Given the description of an element on the screen output the (x, y) to click on. 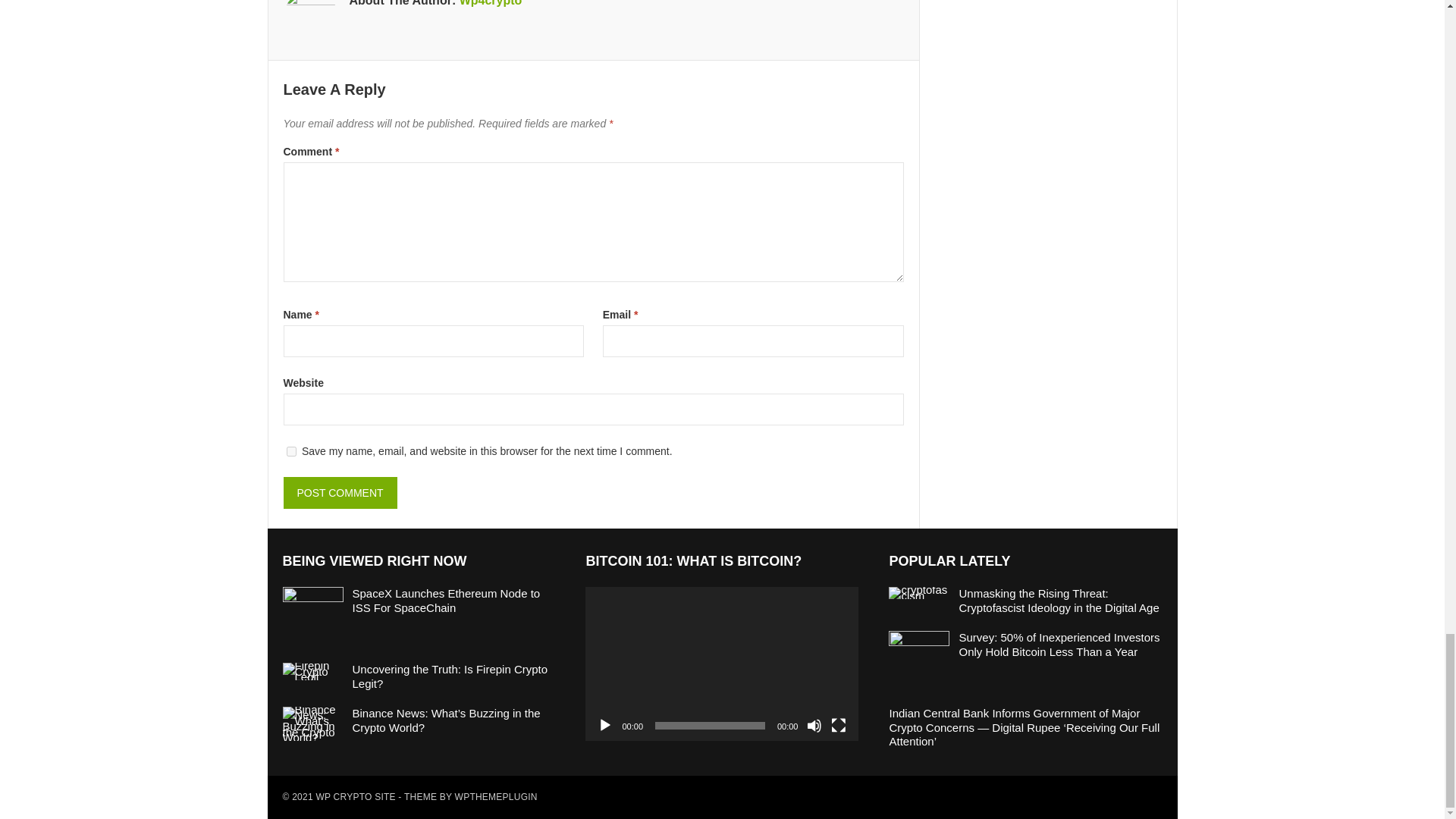
yes (291, 451)
Post Comment (340, 492)
Play (604, 725)
Mute (814, 725)
Fullscreen (838, 725)
